Given the description of an element on the screen output the (x, y) to click on. 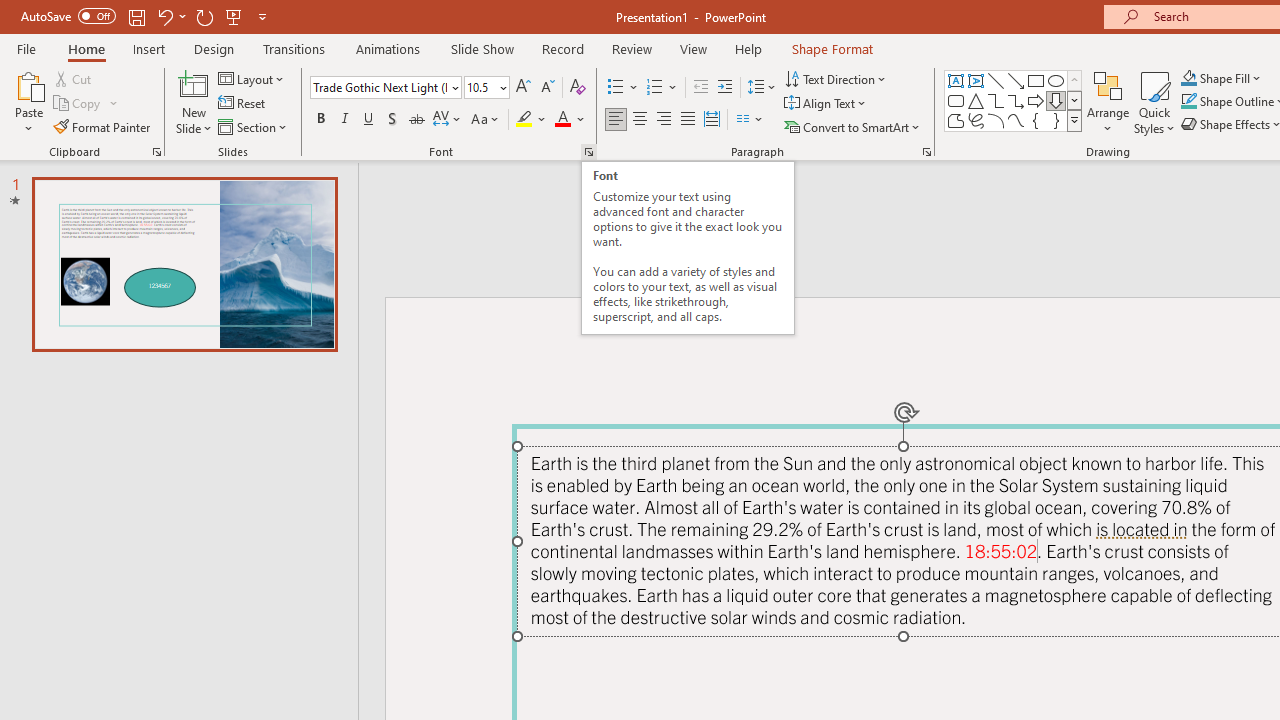
Distributed (712, 119)
Shape Fill (1221, 78)
Character Spacing (447, 119)
Arrow: Right (1035, 100)
Underline (369, 119)
Paste (28, 102)
Layout (252, 78)
Center (639, 119)
Text Highlight Color Yellow (524, 119)
